Given the description of an element on the screen output the (x, y) to click on. 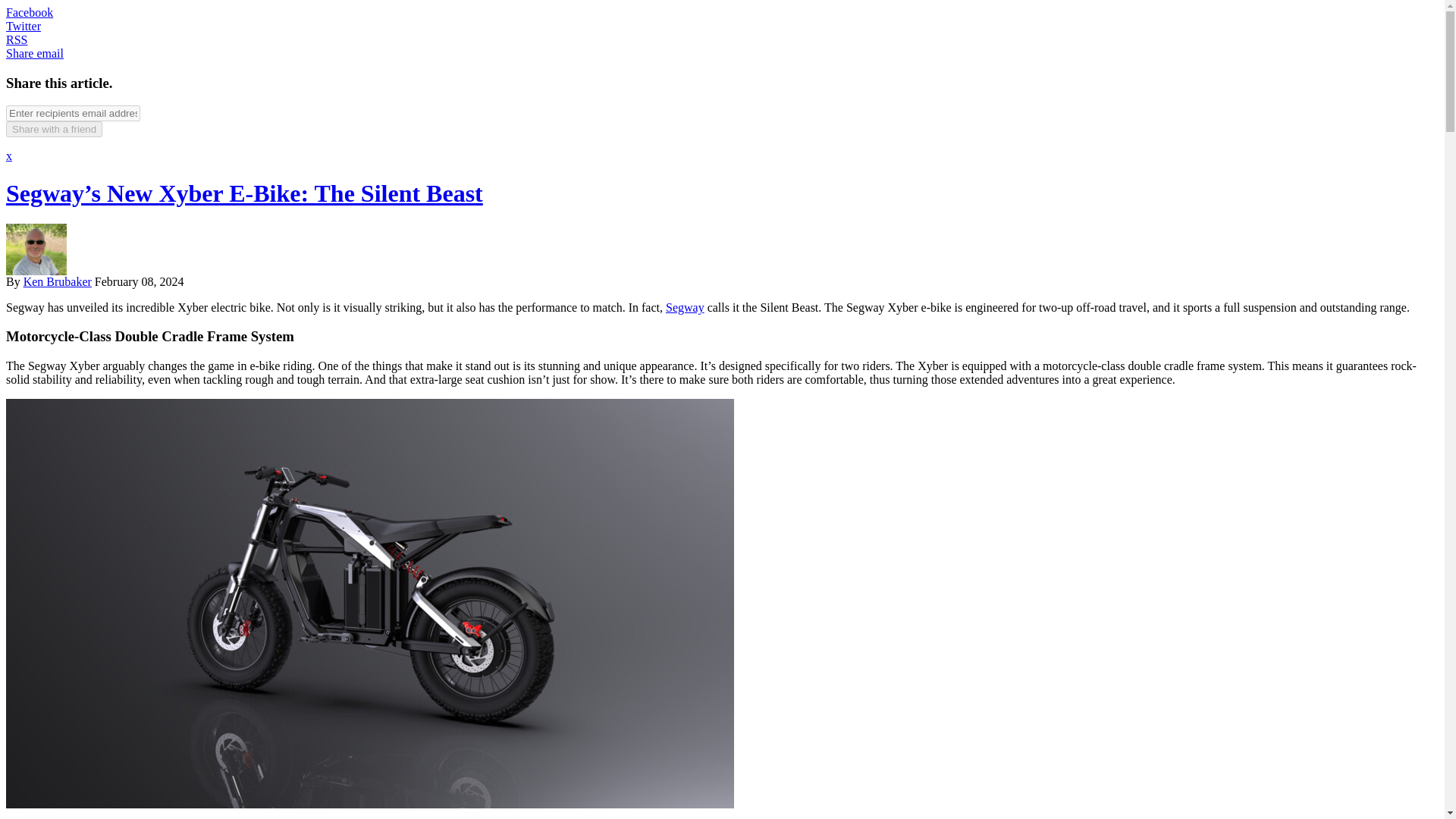
Share email (34, 52)
Facebook (28, 11)
Twitter (22, 25)
Share with a friend (53, 129)
Segway (684, 307)
RSS (16, 39)
Ken Brubaker (57, 281)
